Given the description of an element on the screen output the (x, y) to click on. 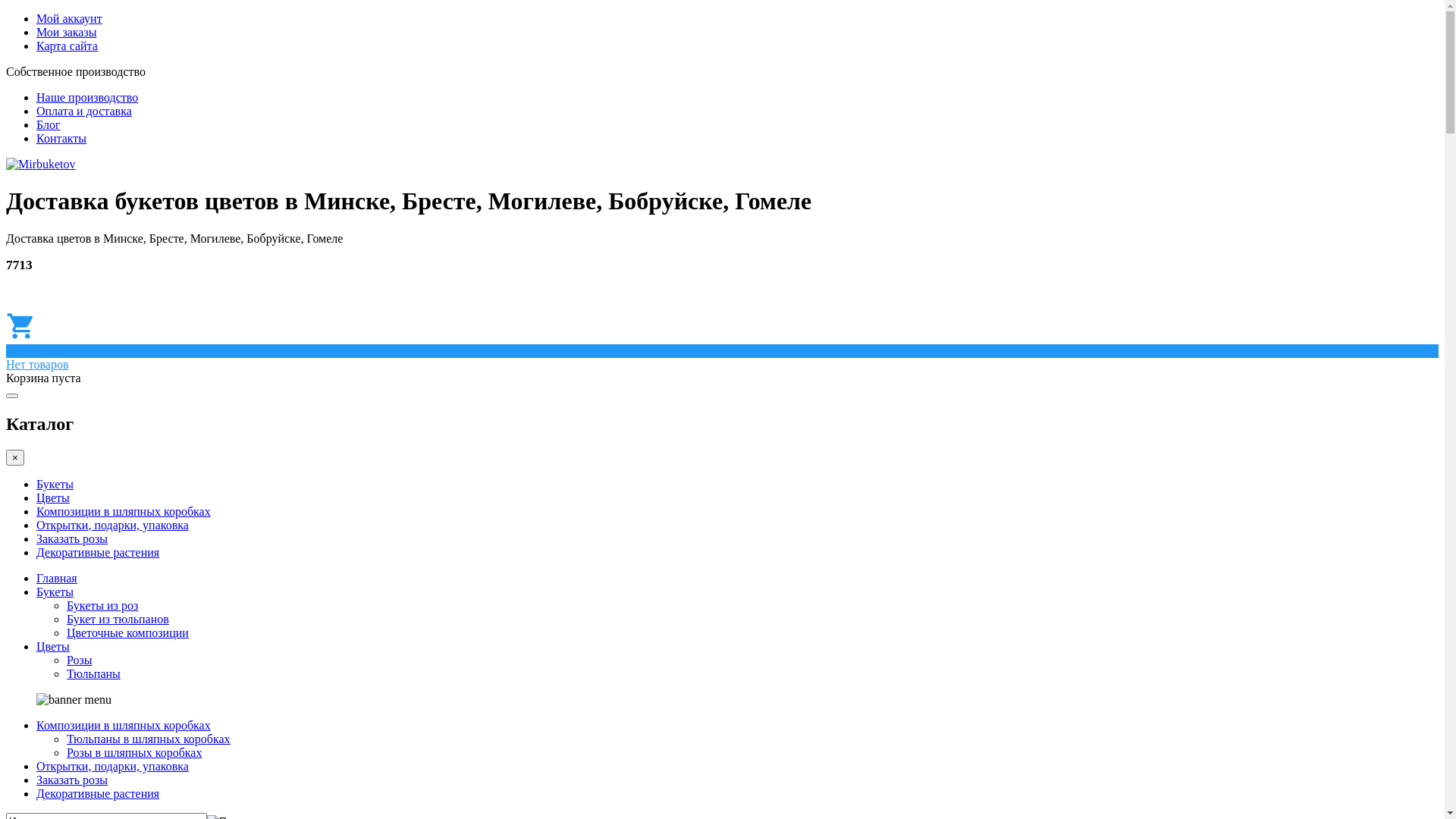
Mirbuketov Element type: hover (40, 163)
